Given the description of an element on the screen output the (x, y) to click on. 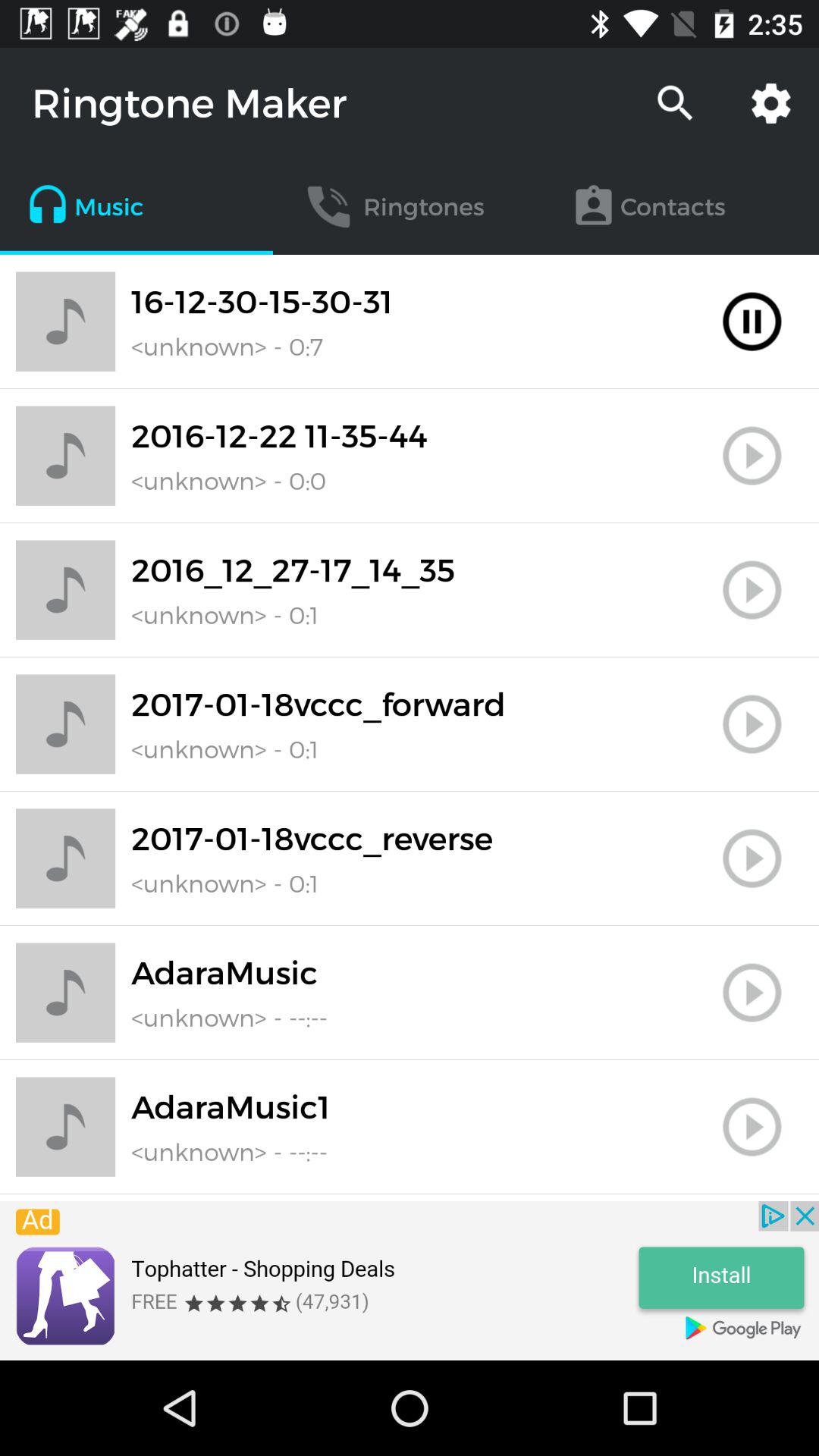
play media (752, 858)
